Given the description of an element on the screen output the (x, y) to click on. 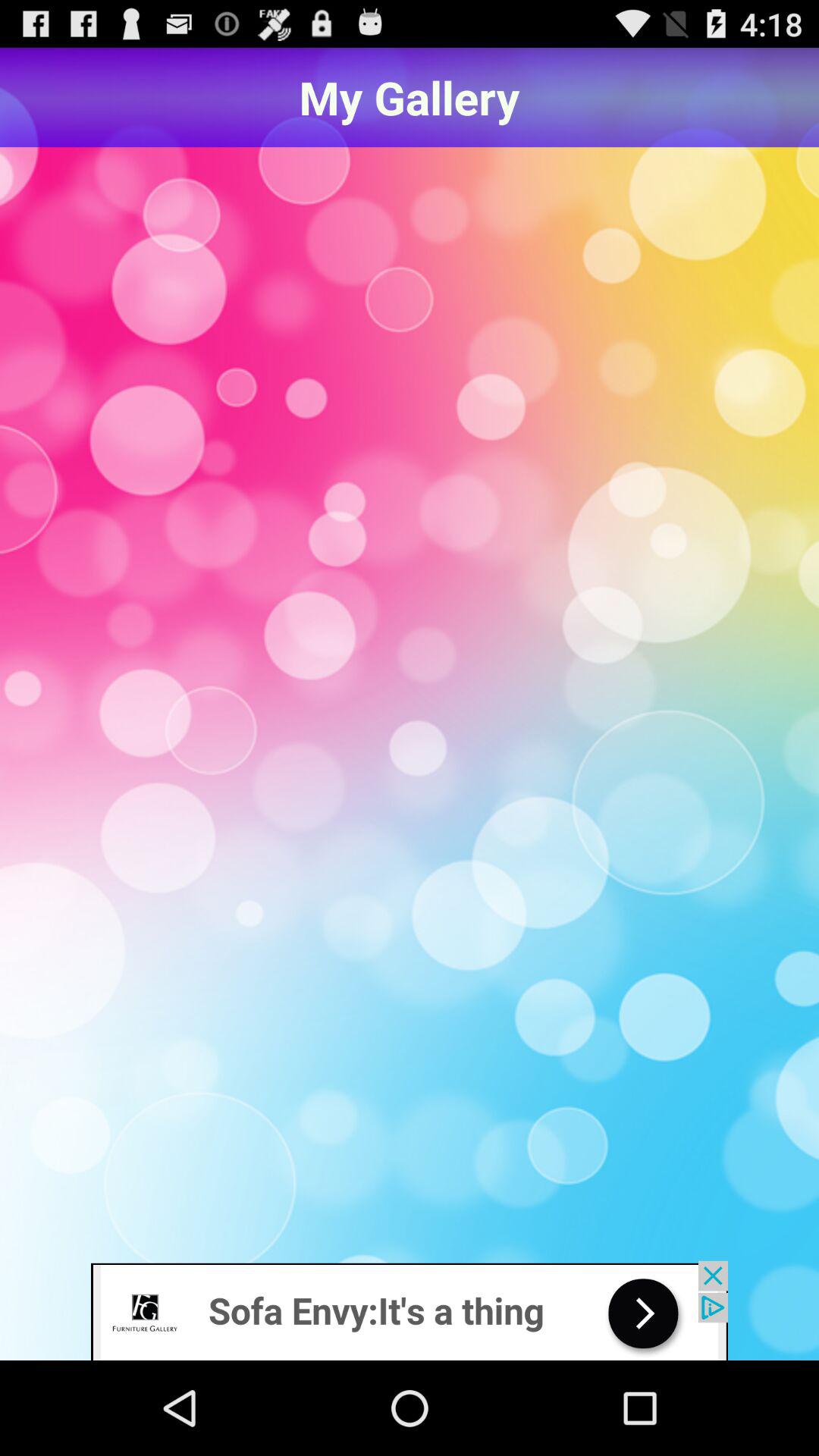
go to gallery (409, 705)
